Given the description of an element on the screen output the (x, y) to click on. 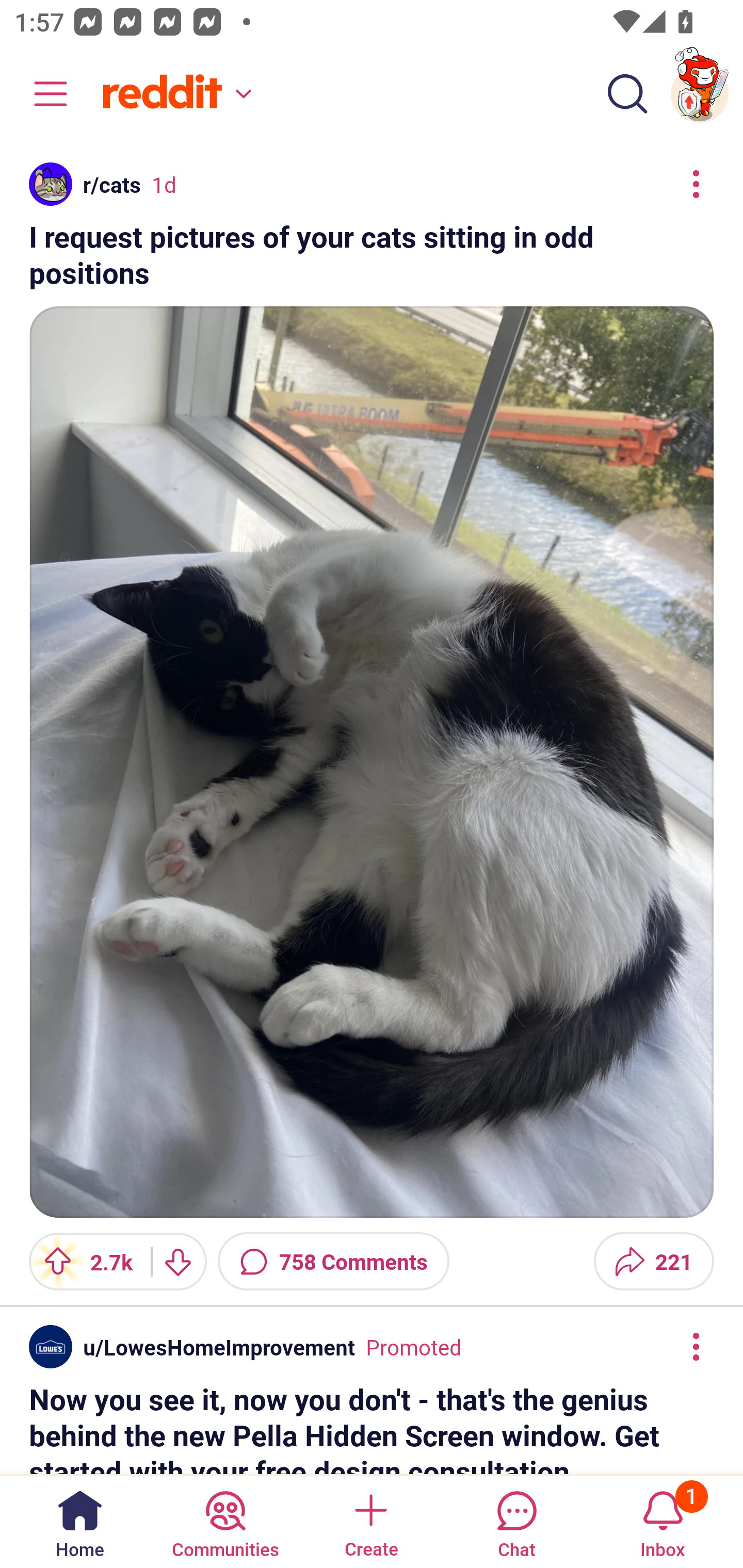
Search (626, 93)
TestAppium002 account (699, 93)
Community menu (41, 94)
Home feed (173, 94)
Home (80, 1520)
Communities (225, 1520)
Create a post Create (370, 1520)
Chat (516, 1520)
Inbox, has 1 notification 1 Inbox (662, 1520)
